Given the description of an element on the screen output the (x, y) to click on. 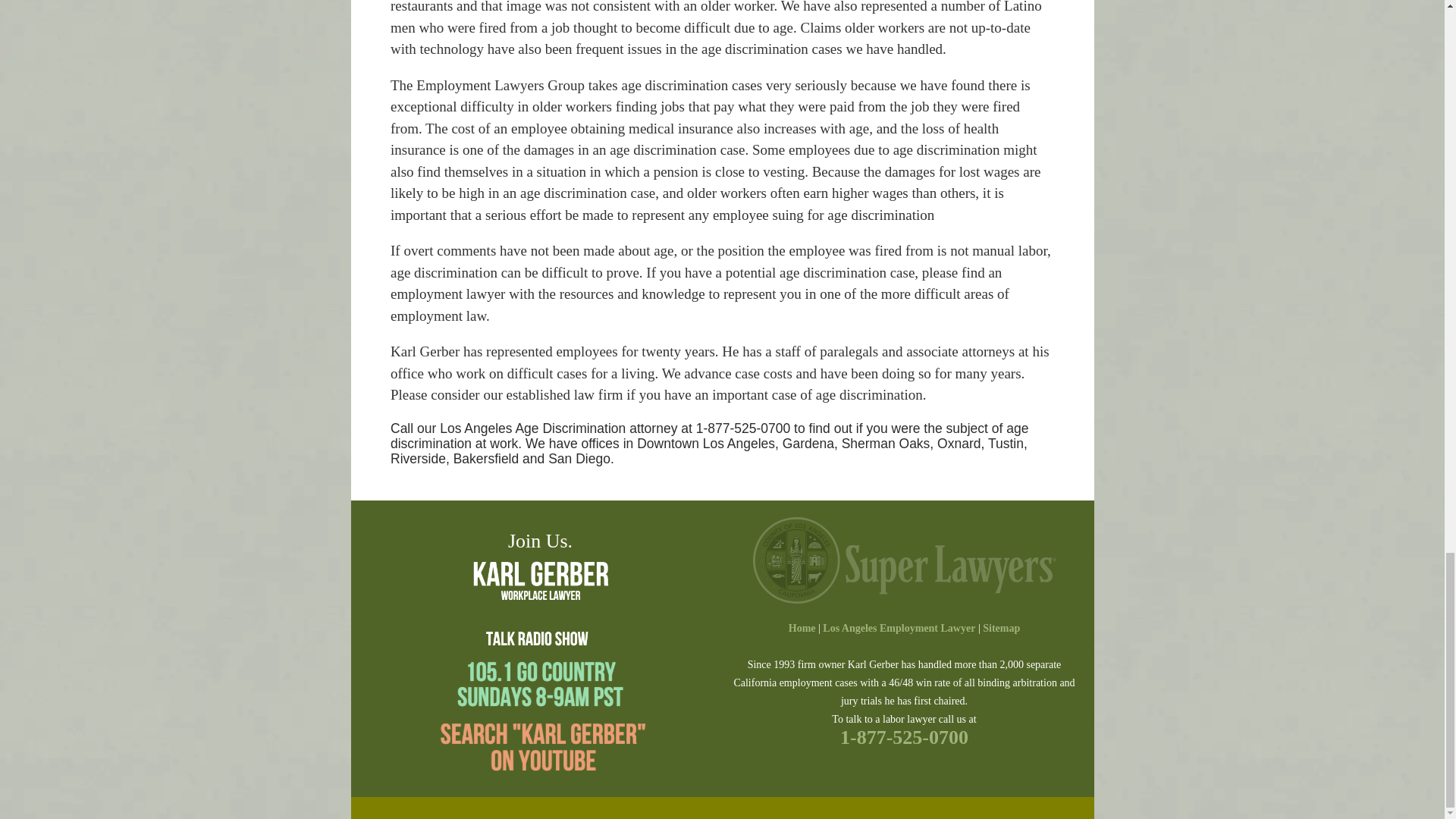
Los Angeles Employee Lawyer (802, 627)
